Given the description of an element on the screen output the (x, y) to click on. 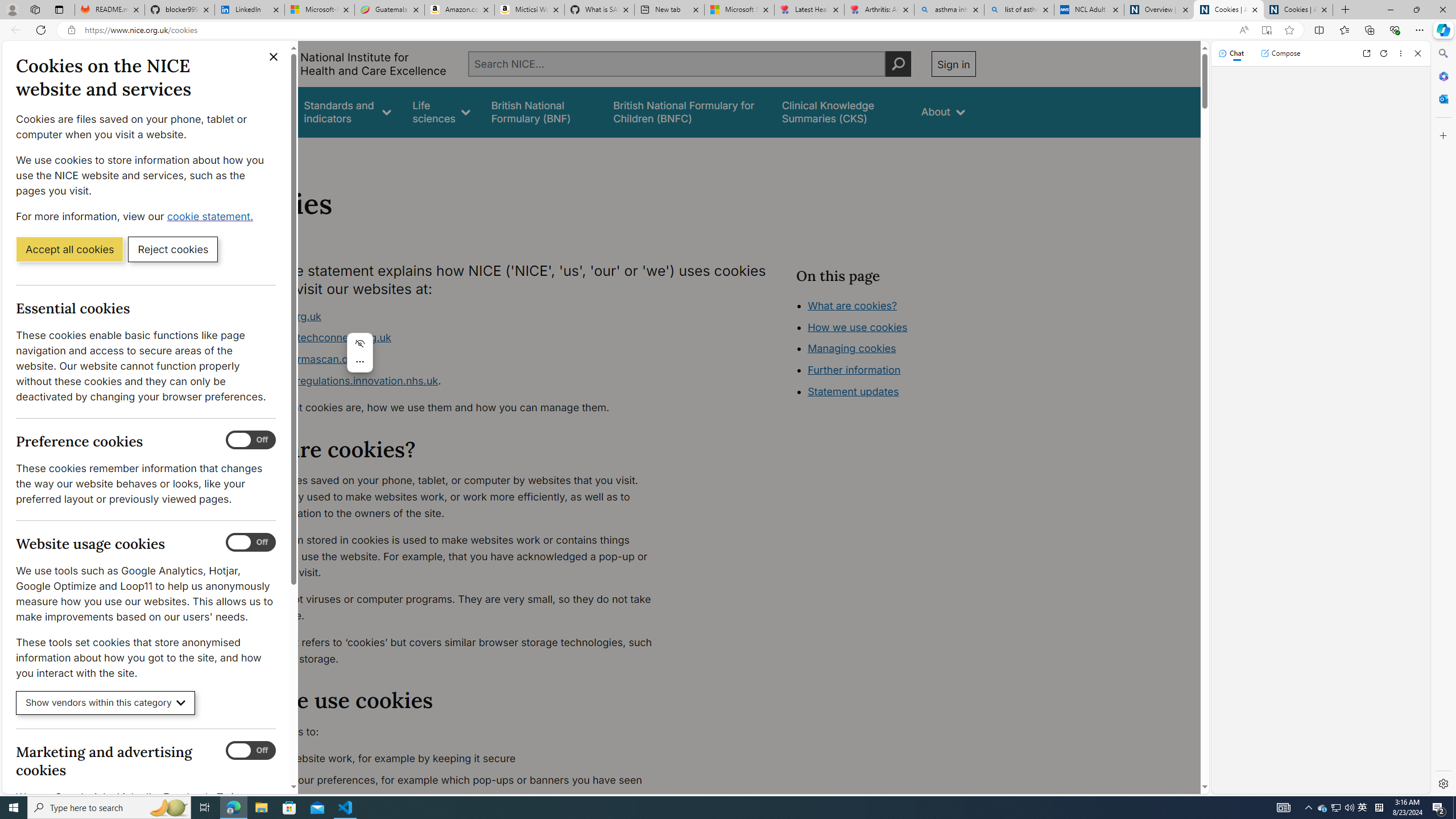
Website usage cookies (250, 542)
British National Formulary for Children (BNFC) (686, 111)
Managing cookies (852, 348)
About (942, 111)
www.nice.org.uk (452, 316)
www.digitalregulations.innovation.nhs.uk (338, 380)
Preference cookies (250, 439)
What are cookies? (852, 305)
